Given the description of an element on the screen output the (x, y) to click on. 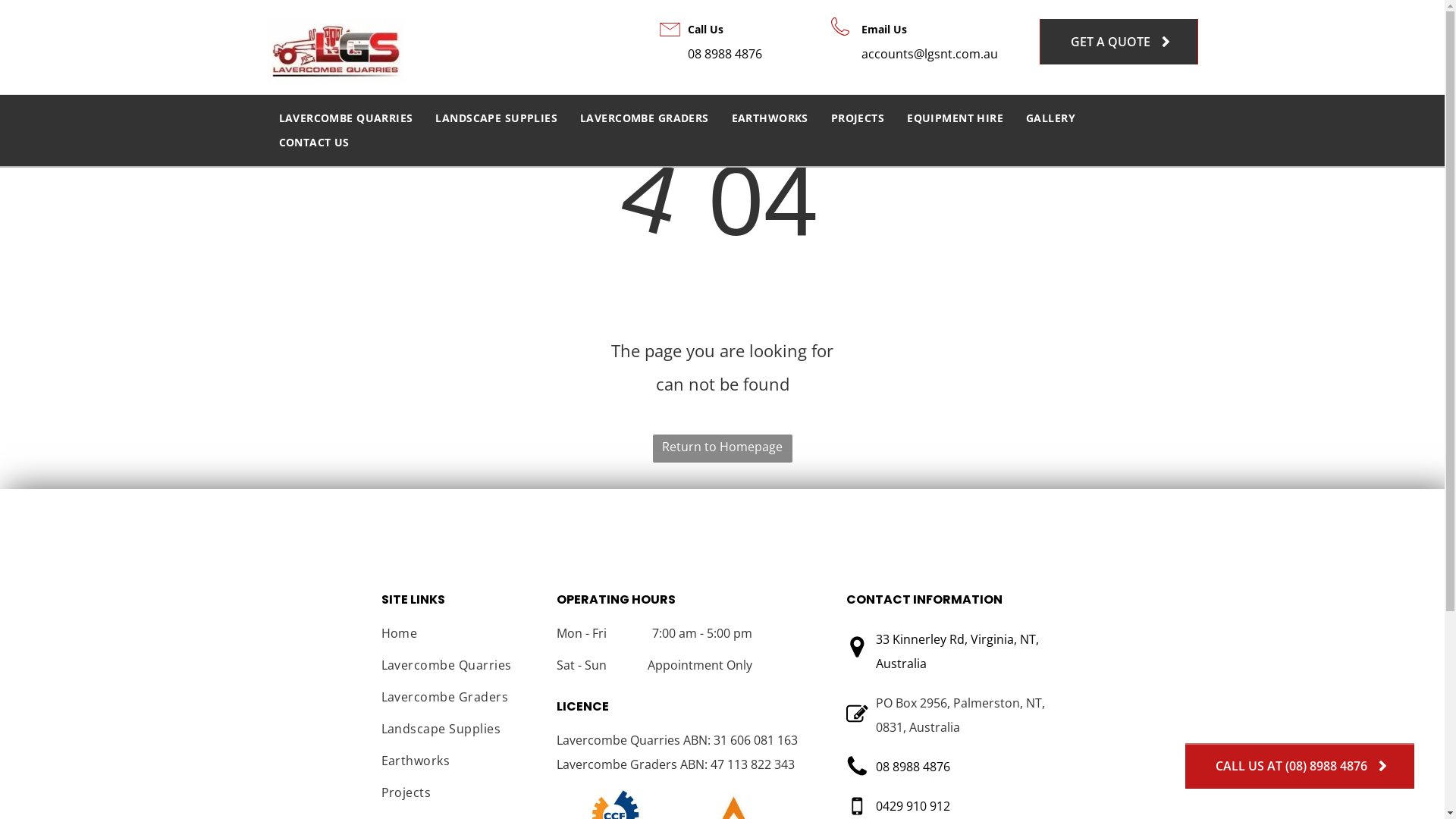
GALLERY Element type: text (1050, 118)
08 8988 4876 Element type: text (912, 766)
33 Kinnerley Rd, Virginia, NT, Australia Element type: text (956, 650)
LAVERCOMBE GRADERS Element type: text (644, 118)
Lavercombe Graders Element type: text (460, 700)
Return to Homepage Element type: text (721, 448)
CALL US AT (08) 8988 4876 Element type: text (1299, 765)
0429 910 912 Element type: text (912, 805)
LAVERCOMBE QUARRIES Element type: text (344, 118)
EQUIPMENT HIRE Element type: text (954, 118)
EARTHWORKS Element type: text (769, 118)
Home Element type: text (460, 636)
Quarry In Darwin Element type: hover (335, 50)
GET A QUOTE Element type: text (1117, 41)
08 8988 4876 Element type: text (724, 53)
PROJECTS Element type: text (857, 118)
Projects Element type: text (460, 796)
CONTACT US Element type: text (313, 142)
Lavercombe Quarries Element type: text (460, 668)
Landscape Supplies Element type: text (460, 732)
Earthworks Element type: text (460, 764)
LANDSCAPE SUPPLIES Element type: text (495, 118)
accounts@lgsnt.com.au Element type: text (929, 53)
